Given the description of an element on the screen output the (x, y) to click on. 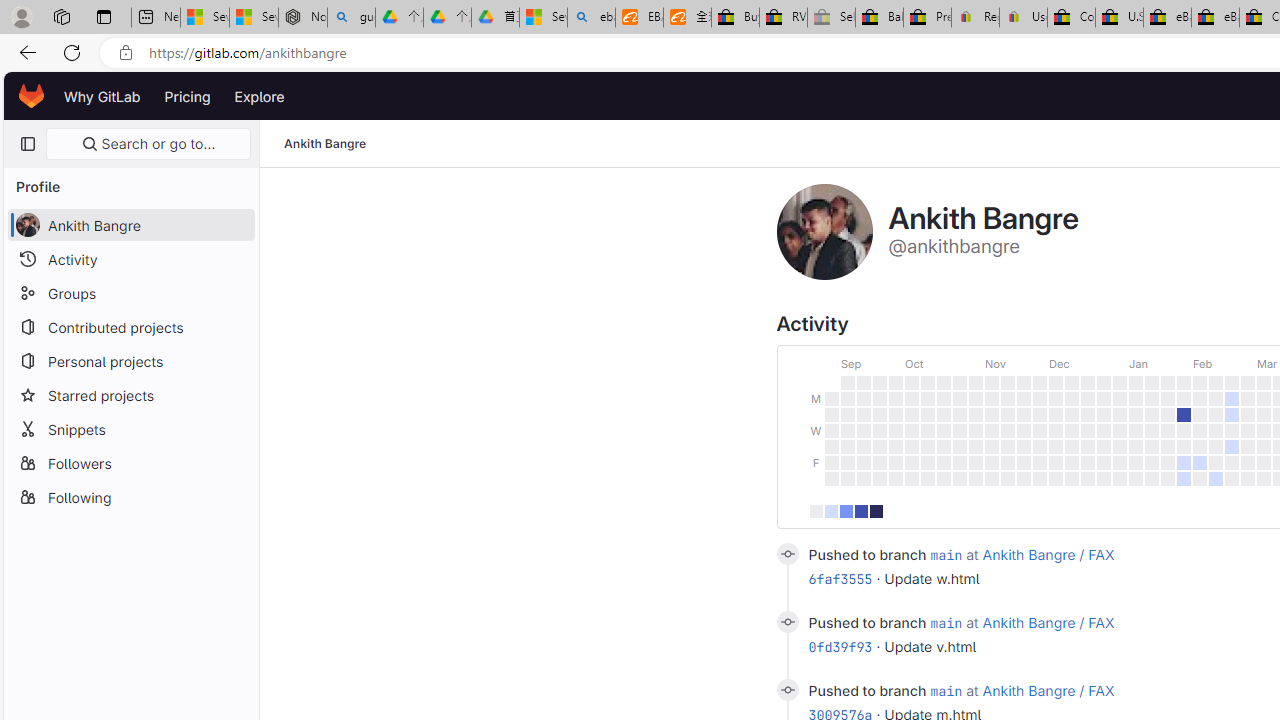
Class: s14 (786, 689)
